Given the description of an element on the screen output the (x, y) to click on. 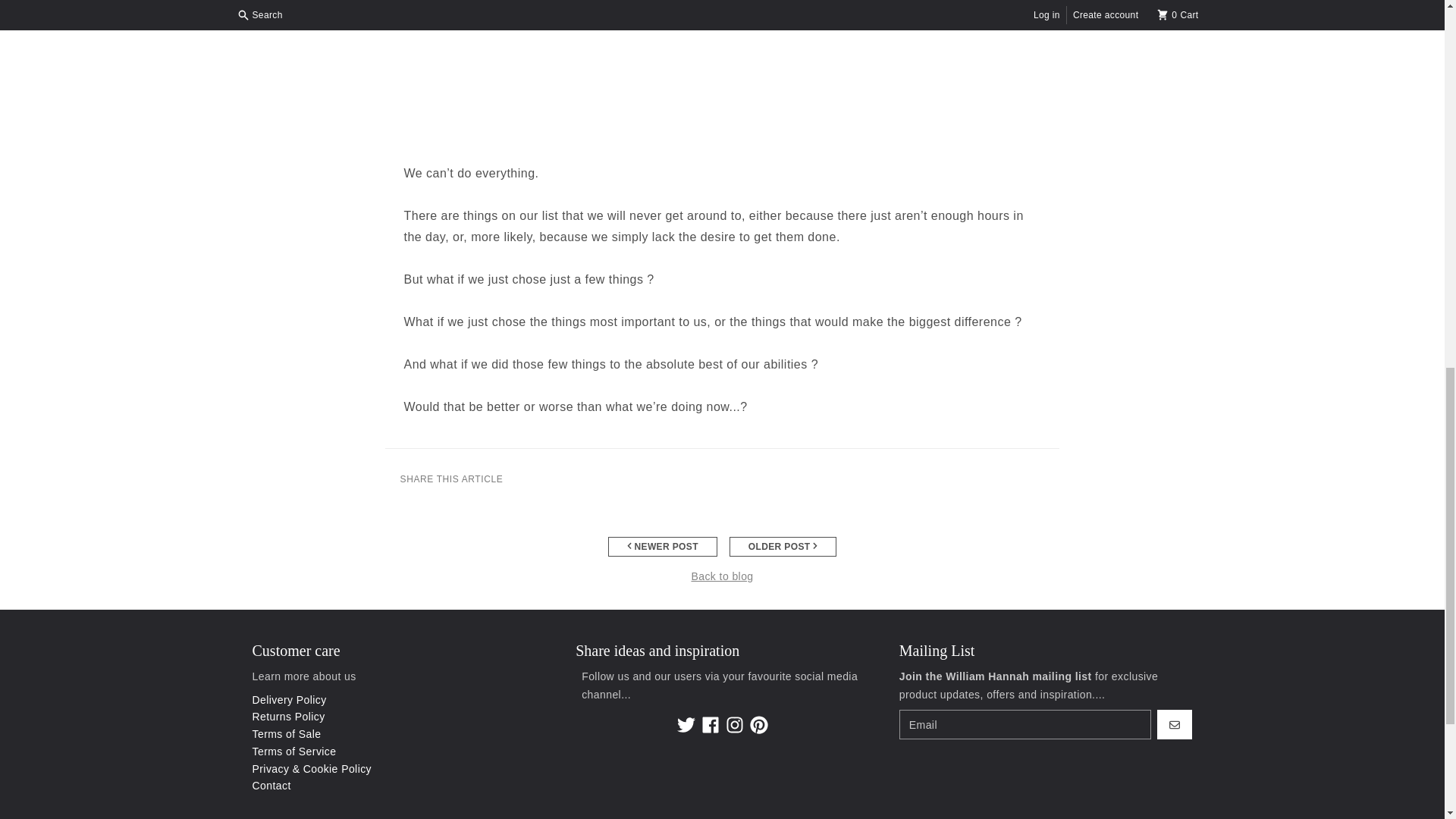
Instagram - William Hannah Limited (733, 724)
OLDER POST (783, 546)
NEWER POST (662, 546)
Terms of Sale (286, 734)
Contact (271, 785)
Twitter - William Hannah Limited (685, 724)
Facebook - William Hannah Limited (709, 724)
GO (1174, 725)
Terms of Service (293, 751)
Delivery Policy (288, 699)
Pinterest - William Hannah Limited (758, 724)
Back to blog (721, 575)
Returns Policy (287, 716)
